Given the description of an element on the screen output the (x, y) to click on. 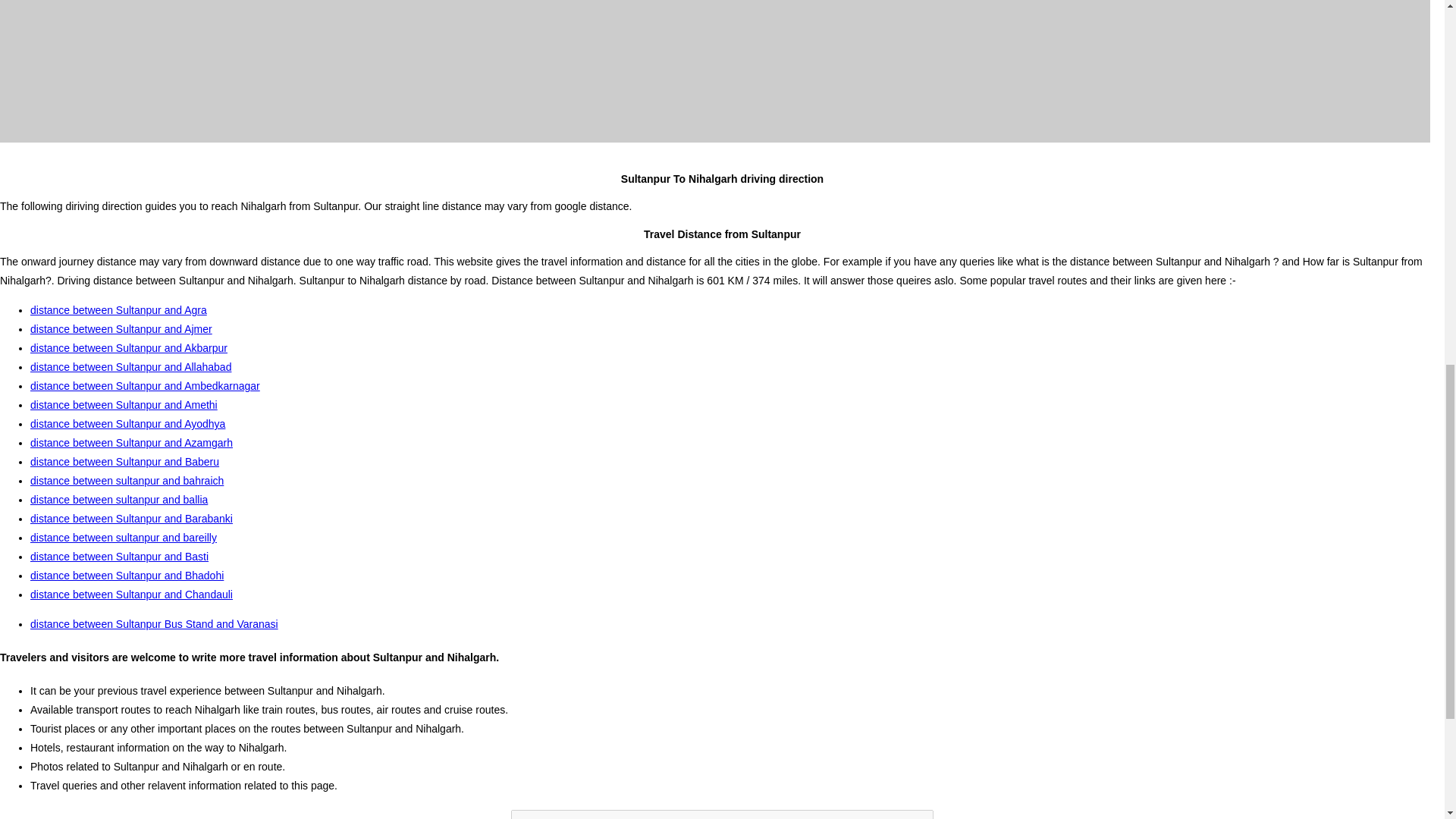
distance between sultanpur and ballia (119, 499)
distance between Sultanpur and Barabanki (131, 518)
distance between Sultanpur and Akbarpur (128, 347)
distance between sultanpur and bahraich (127, 480)
distance between Sultanpur and Chandauli (131, 594)
distance between Sultanpur and Allahabad (130, 367)
distance between Sultanpur and Ajmer (121, 328)
distance between Sultanpur and Basti (119, 556)
distance between Sultanpur Bus Stand and Varanasi (154, 623)
distance between Sultanpur and Baberu (124, 461)
